Given the description of an element on the screen output the (x, y) to click on. 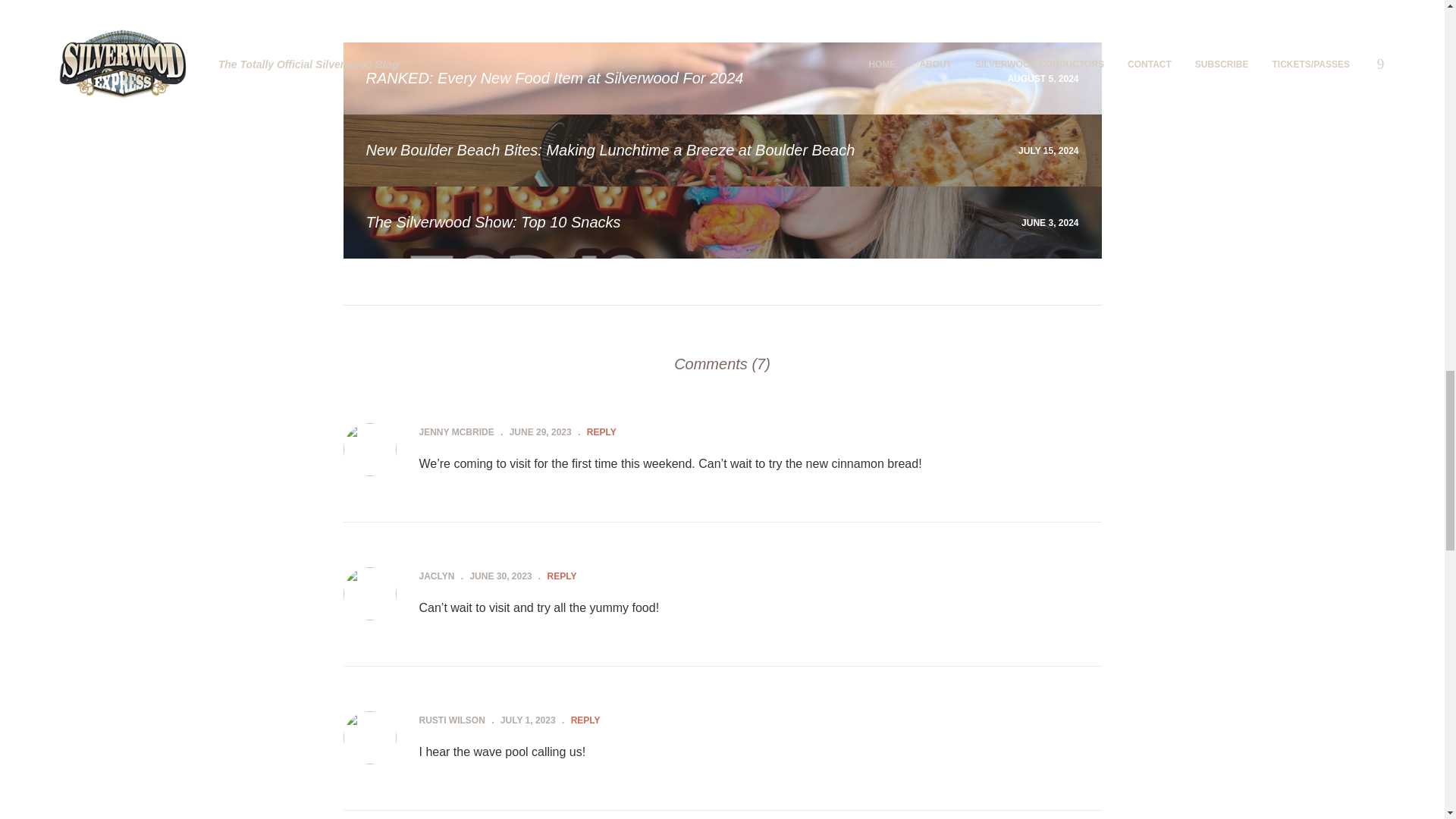
REPLY (584, 719)
REPLY (561, 575)
REPLY (600, 431)
